Given the description of an element on the screen output the (x, y) to click on. 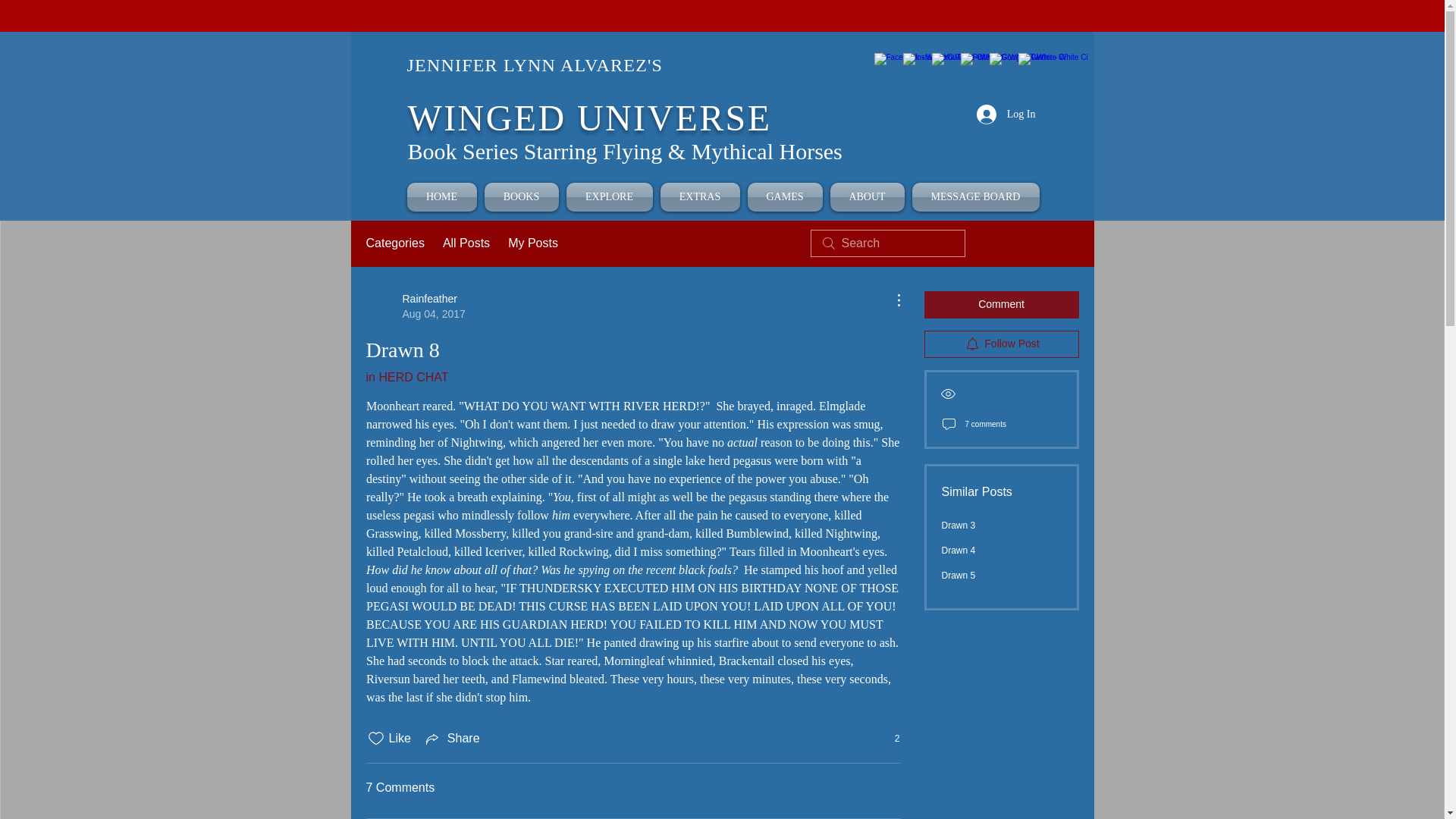
GAMES (783, 196)
ABOUT (867, 196)
BOOKS (521, 196)
WINGED UNIVERSE (589, 117)
EXTRAS (700, 196)
Log In (1006, 113)
MESSAGE BOARD (973, 196)
EXPLORE (609, 196)
HOME (443, 196)
JENNIFER LYNN ALVAREZ'S (534, 65)
